Given the description of an element on the screen output the (x, y) to click on. 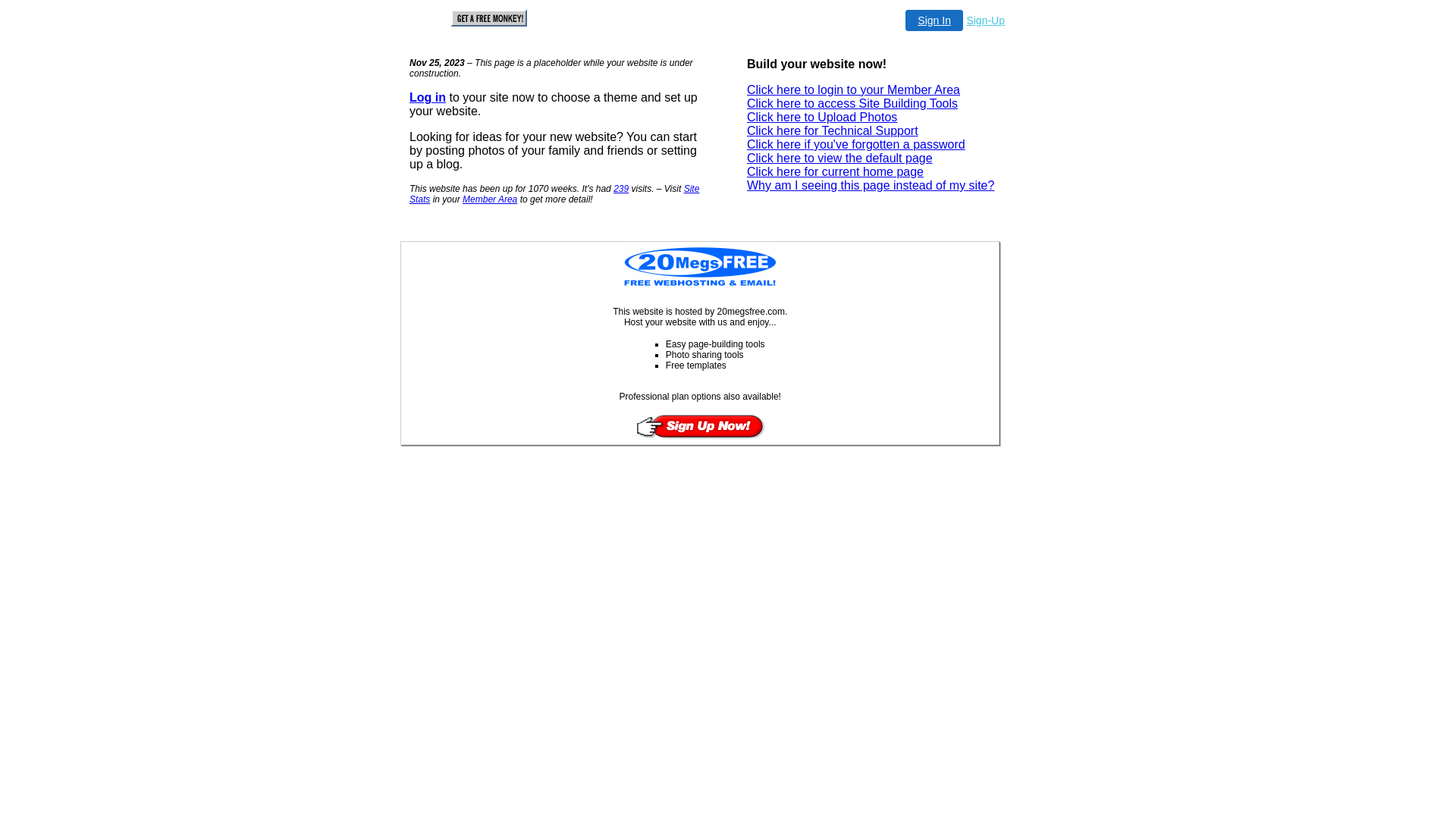
Click here to login to your Member Area Element type: text (853, 89)
Why am I seeing this page instead of my site? Element type: text (870, 184)
Click here to access Site Building Tools Element type: text (851, 103)
Click here for current home page Element type: text (834, 171)
Site Stats Element type: text (554, 193)
Click here for Technical Support Element type: text (832, 130)
Sign-Up Element type: text (985, 20)
Member Area Element type: text (489, 199)
Sign In Element type: text (934, 20)
Click here if you've forgotten a password Element type: text (855, 144)
Log in Element type: text (427, 97)
239 Element type: text (620, 188)
Click here to Upload Photos Element type: text (821, 116)
Click here to view the default page Element type: text (839, 157)
